Given the description of an element on the screen output the (x, y) to click on. 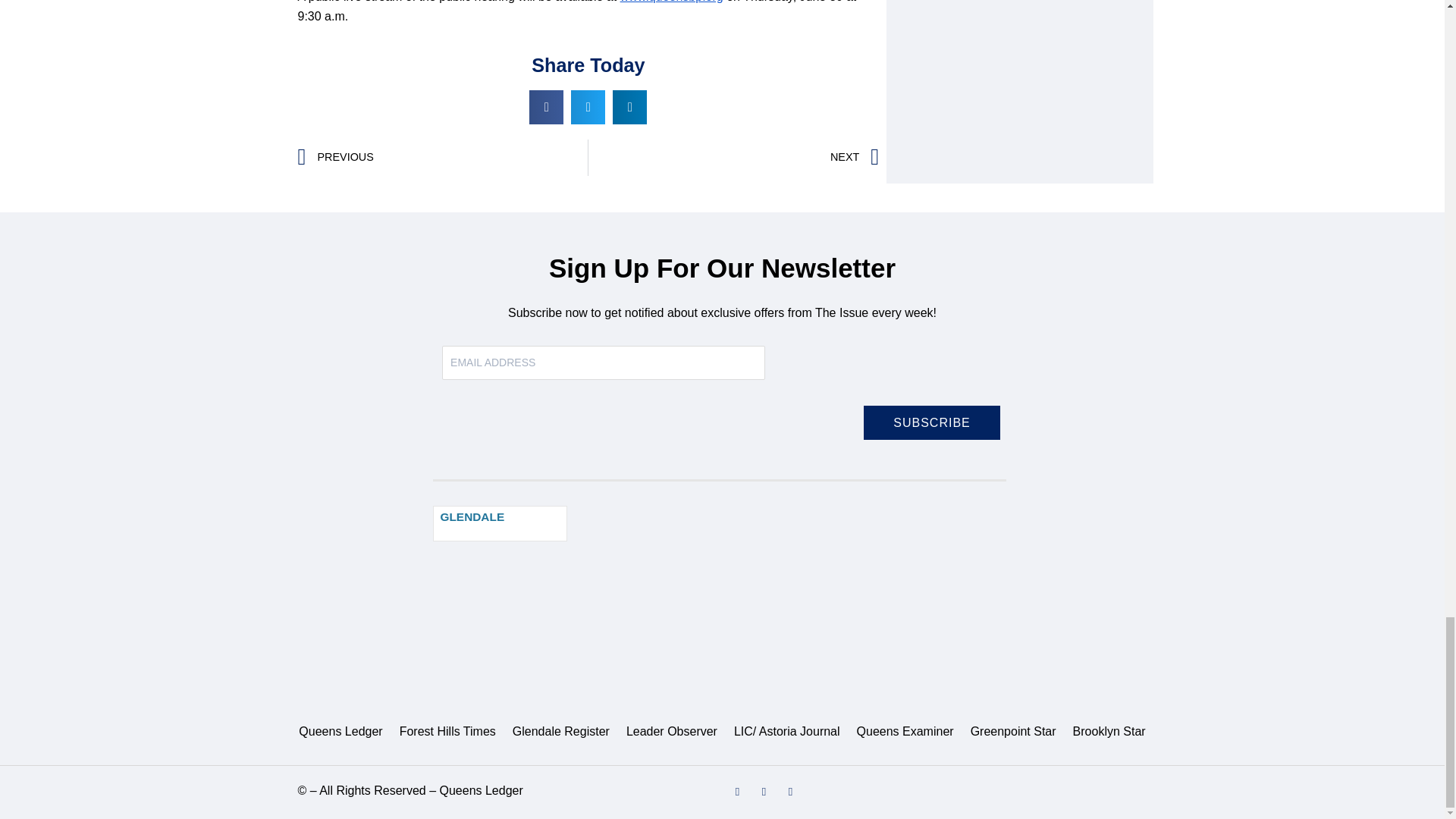
Subscribe (931, 422)
GLENDALE (471, 516)
GLENDALE (500, 523)
